Given the description of an element on the screen output the (x, y) to click on. 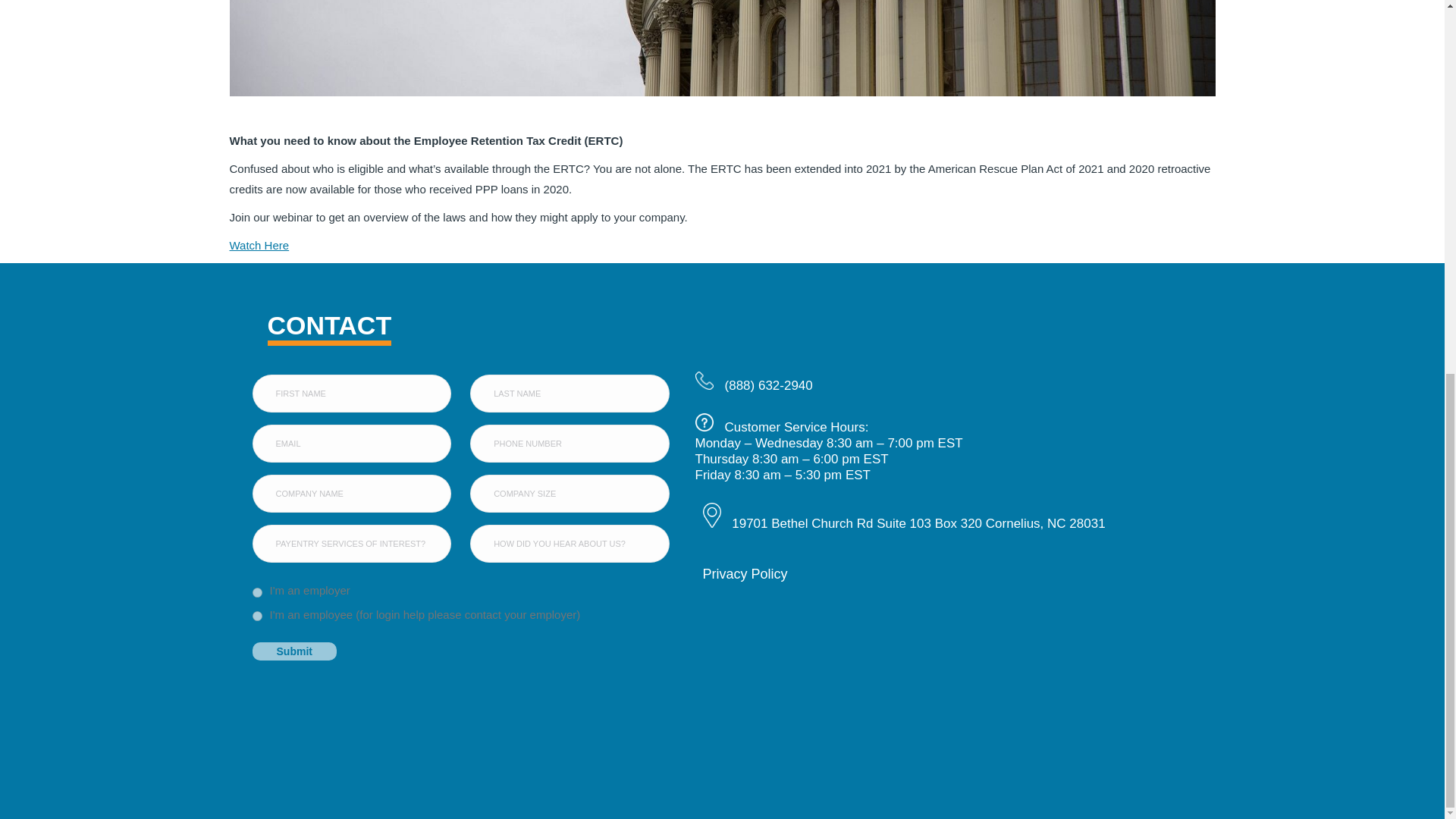
I'm an employer (256, 592)
Submit (293, 651)
Legislation (721, 48)
